Given the description of an element on the screen output the (x, y) to click on. 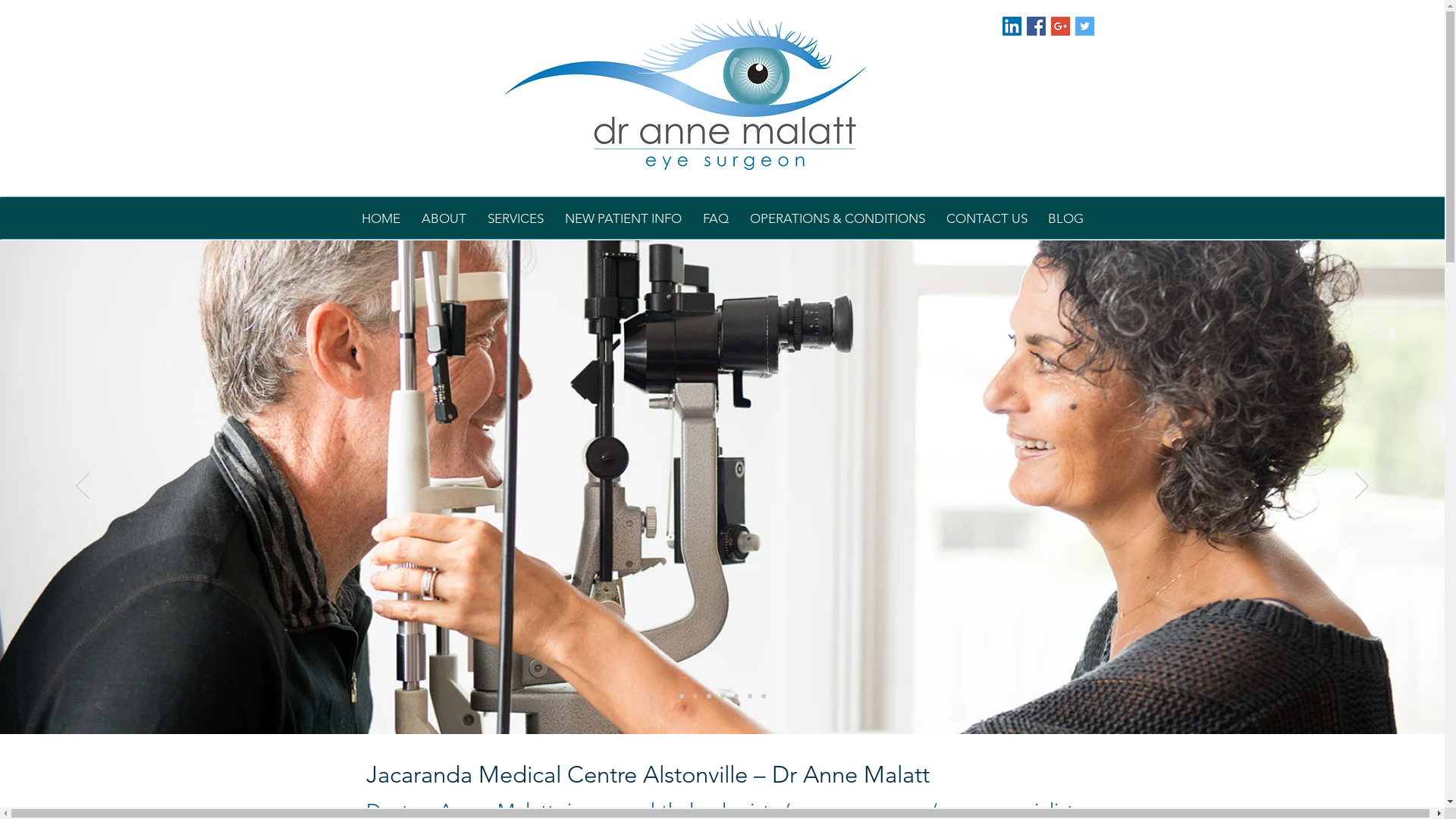
SERVICES Element type: text (514, 218)
FAQ Element type: text (714, 218)
CONTACT US Element type: text (986, 218)
NEW PATIENT INFO Element type: text (622, 218)
OPERATIONS & CONDITIONS Element type: text (836, 218)
BLOG Element type: text (1065, 218)
HOME Element type: text (380, 218)
